Given the description of an element on the screen output the (x, y) to click on. 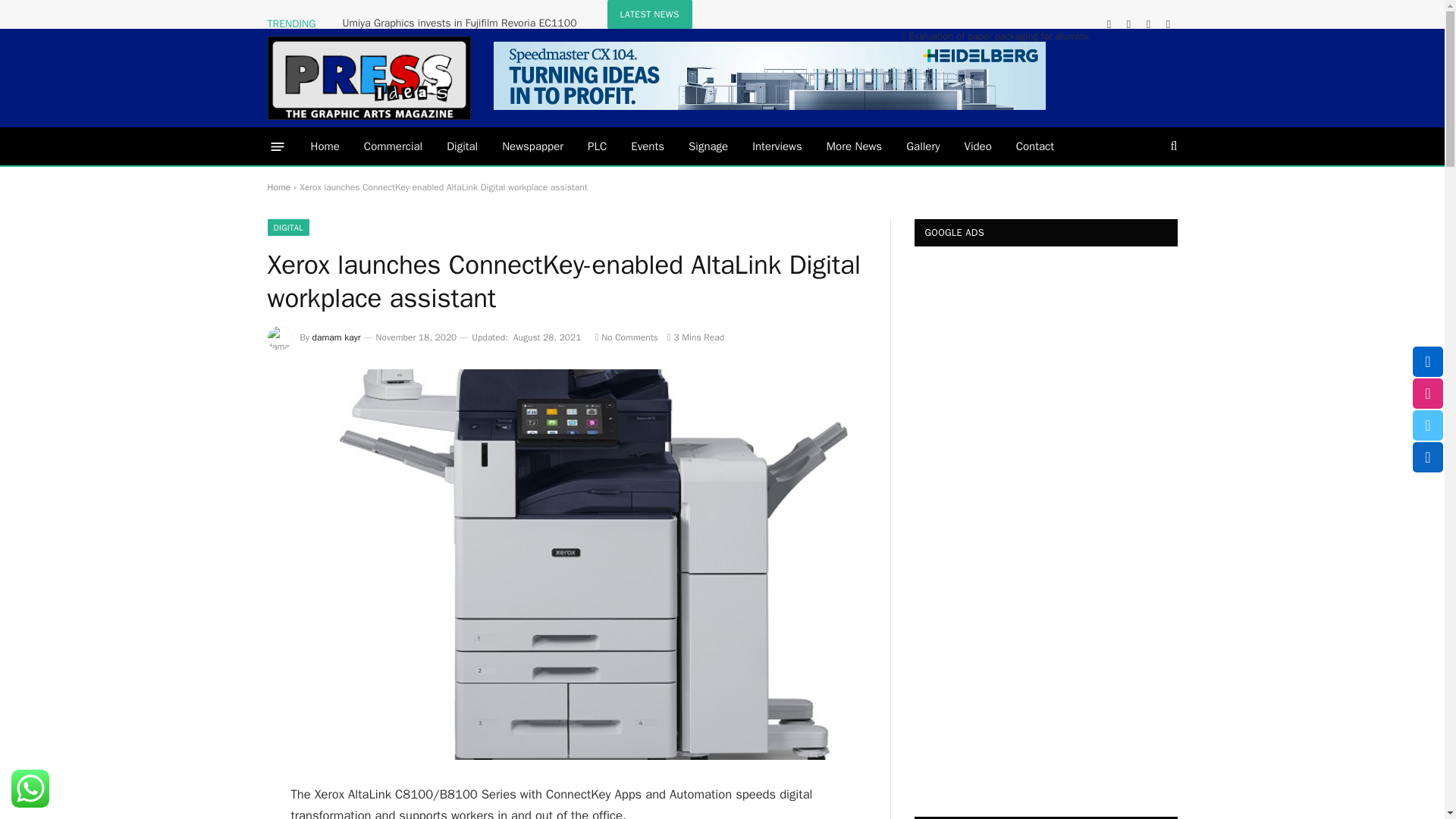
Umiya Graphics invests in Fujifilm Revoria EC1100 (463, 23)
PRESSIdeas (368, 77)
Posts by damam kayr (337, 337)
